Given the description of an element on the screen output the (x, y) to click on. 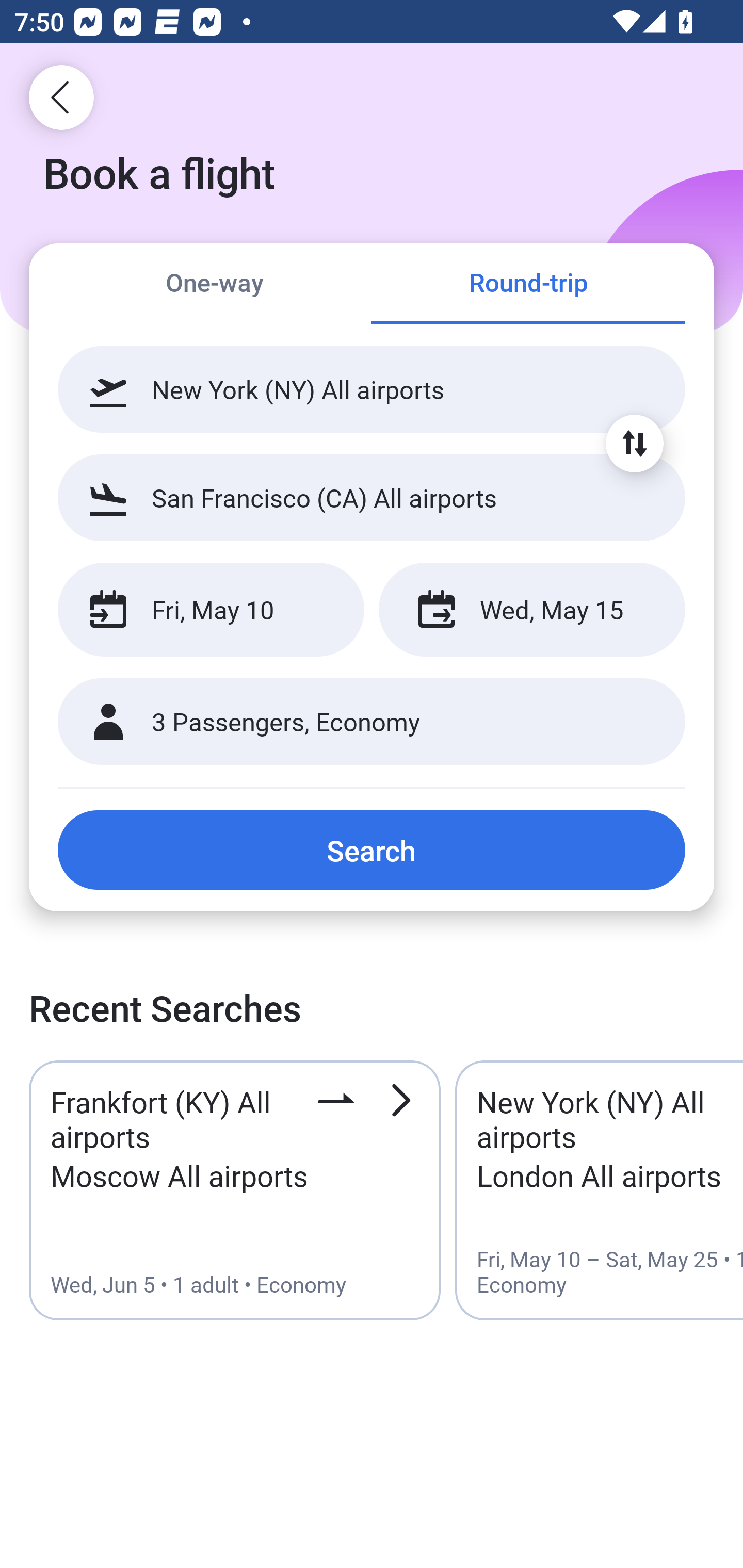
One-way (214, 284)
New York (NY) All airports (371, 389)
San Francisco (CA) All airports (371, 497)
Fri, May 10 (210, 609)
Wed, May 15 (531, 609)
3 Passengers, Economy (371, 721)
Search (371, 849)
